Given the description of an element on the screen output the (x, y) to click on. 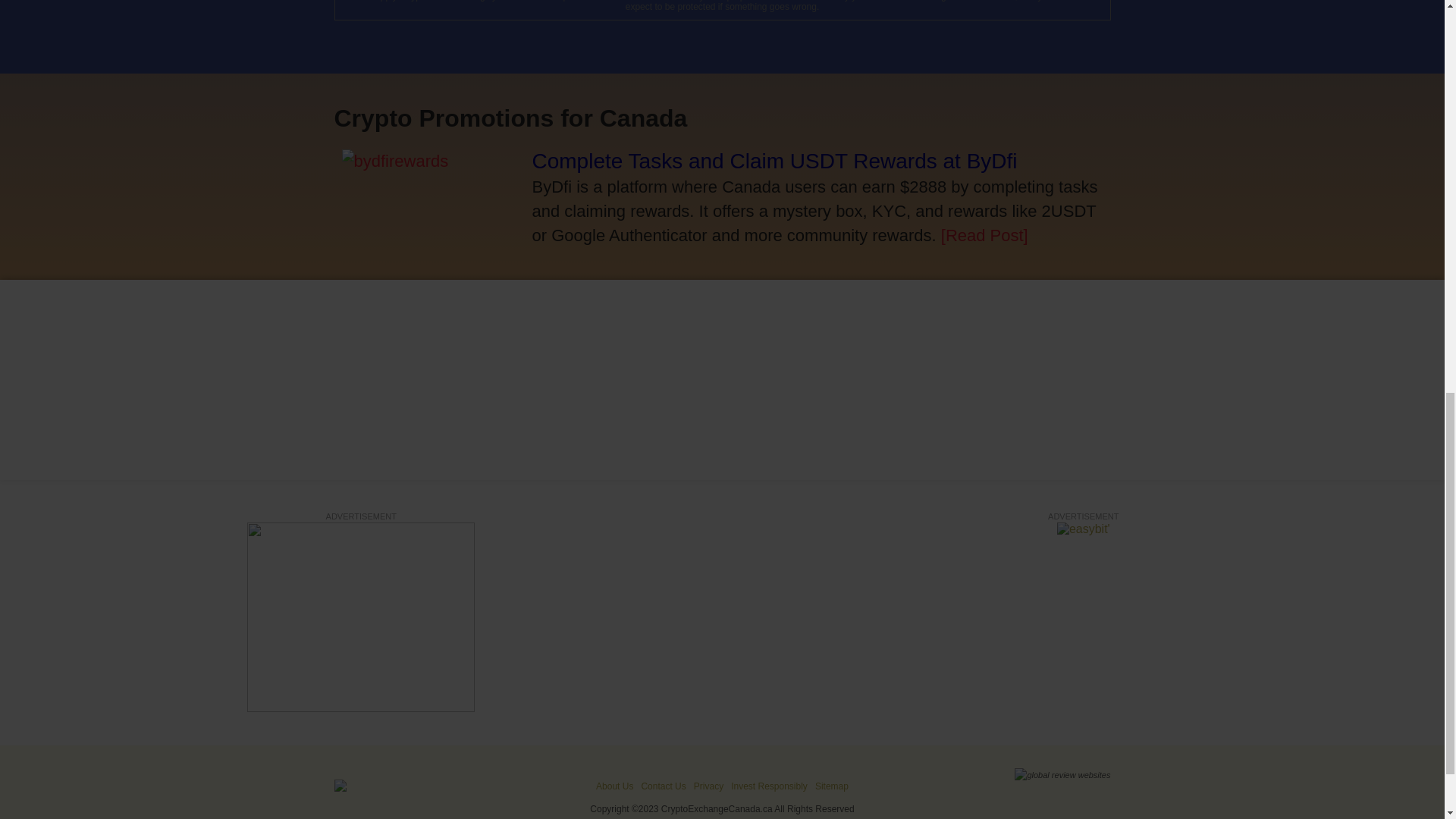
Complete Tasks and Claim .. (394, 160)
Complete Tasks and Claim USDT Rewards at ByDfi (774, 160)
